Given the description of an element on the screen output the (x, y) to click on. 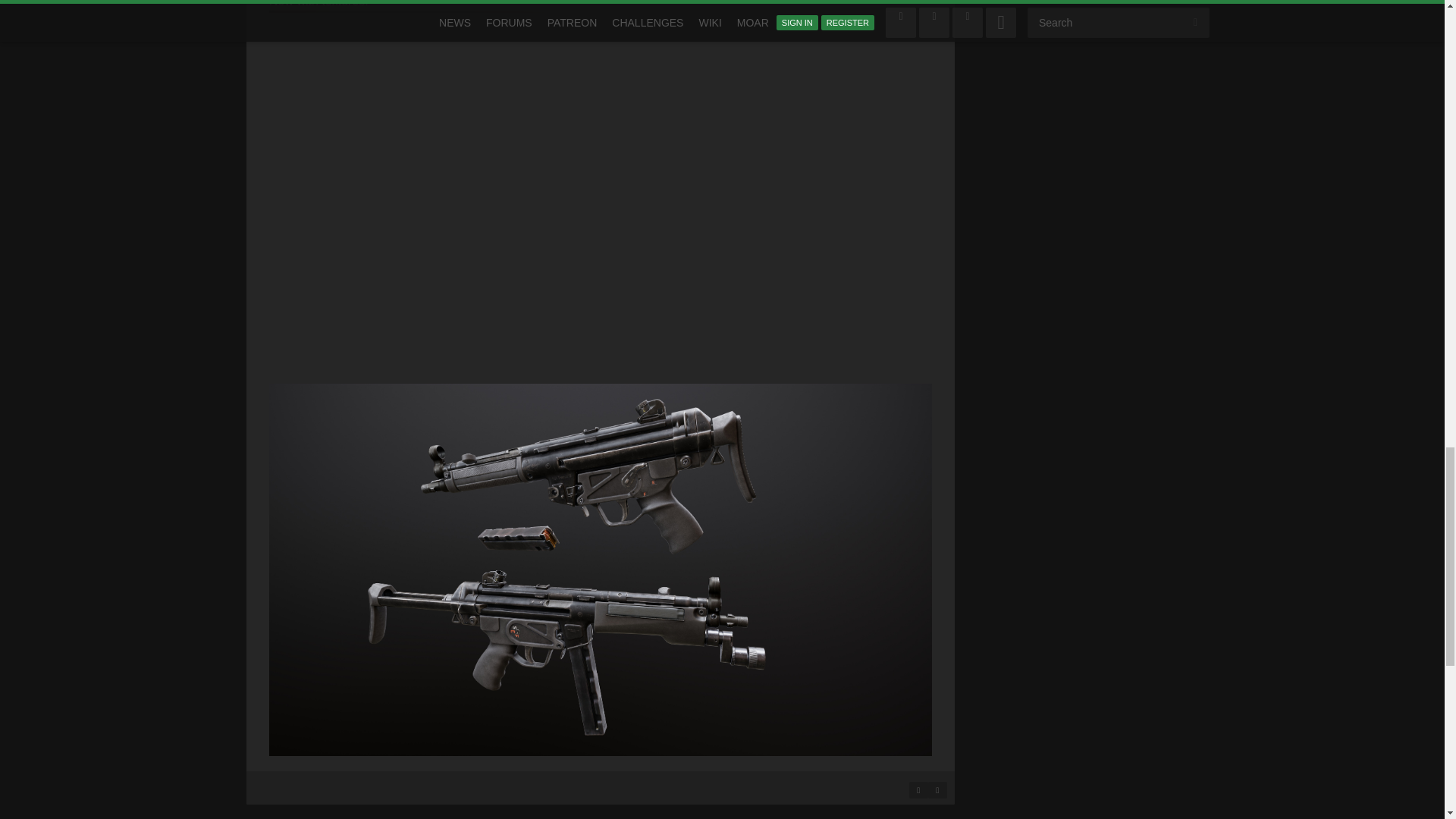
SHARE ON FACEBOOK (918, 790)
